Given the description of an element on the screen output the (x, y) to click on. 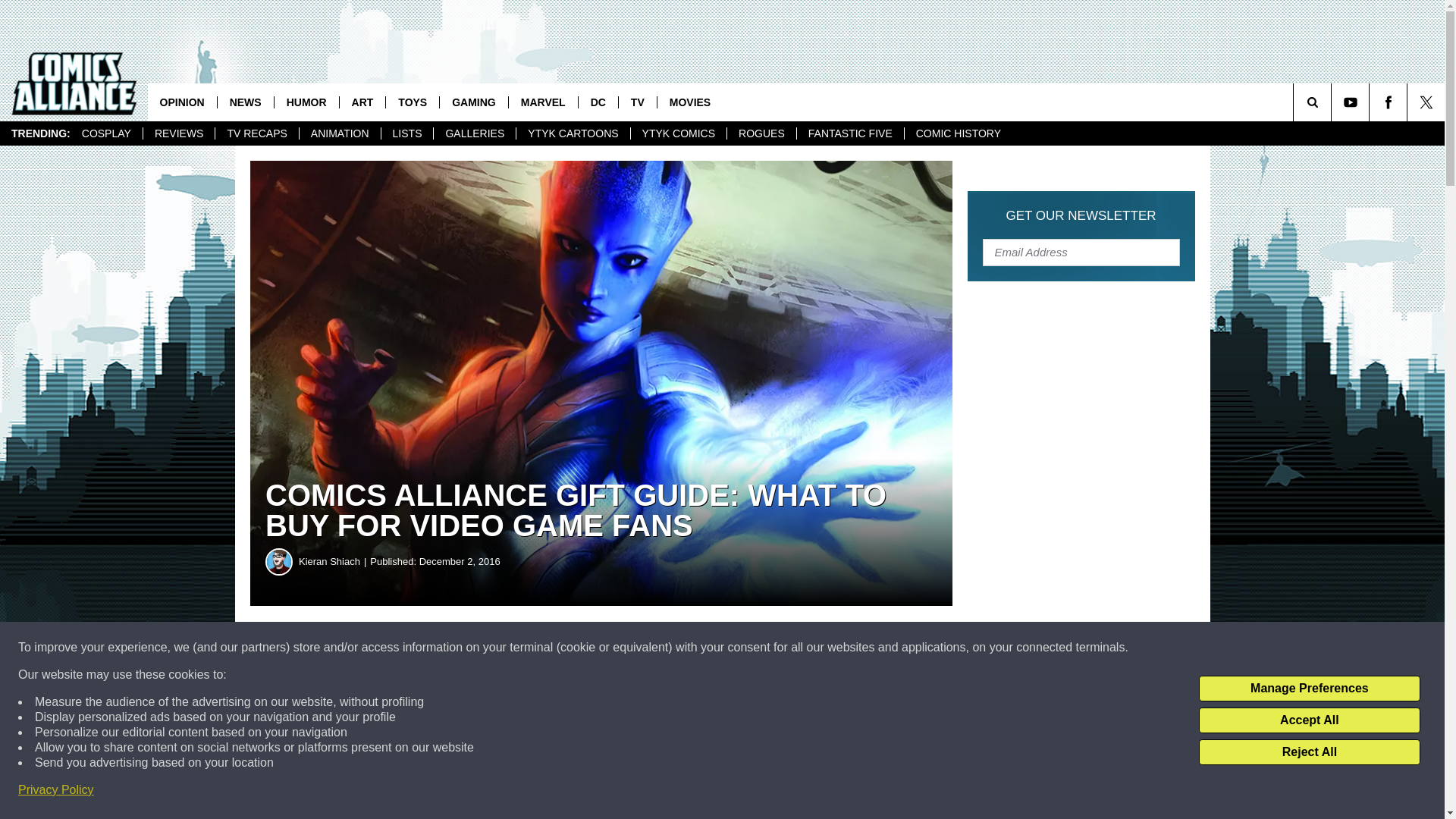
SHARE (460, 647)
TV (636, 102)
SEARCH (1333, 102)
YTYK CARTOONS (571, 133)
TOYS (412, 102)
DC (597, 102)
MARVEL (543, 102)
Visit us on Youtube (1350, 102)
TV RECAPS (256, 133)
GAMING (473, 102)
Kieran Shiach (278, 561)
SEARCH (1333, 102)
SHARE (460, 647)
GALLERIES (473, 133)
OPINION (182, 102)
